Given the description of an element on the screen output the (x, y) to click on. 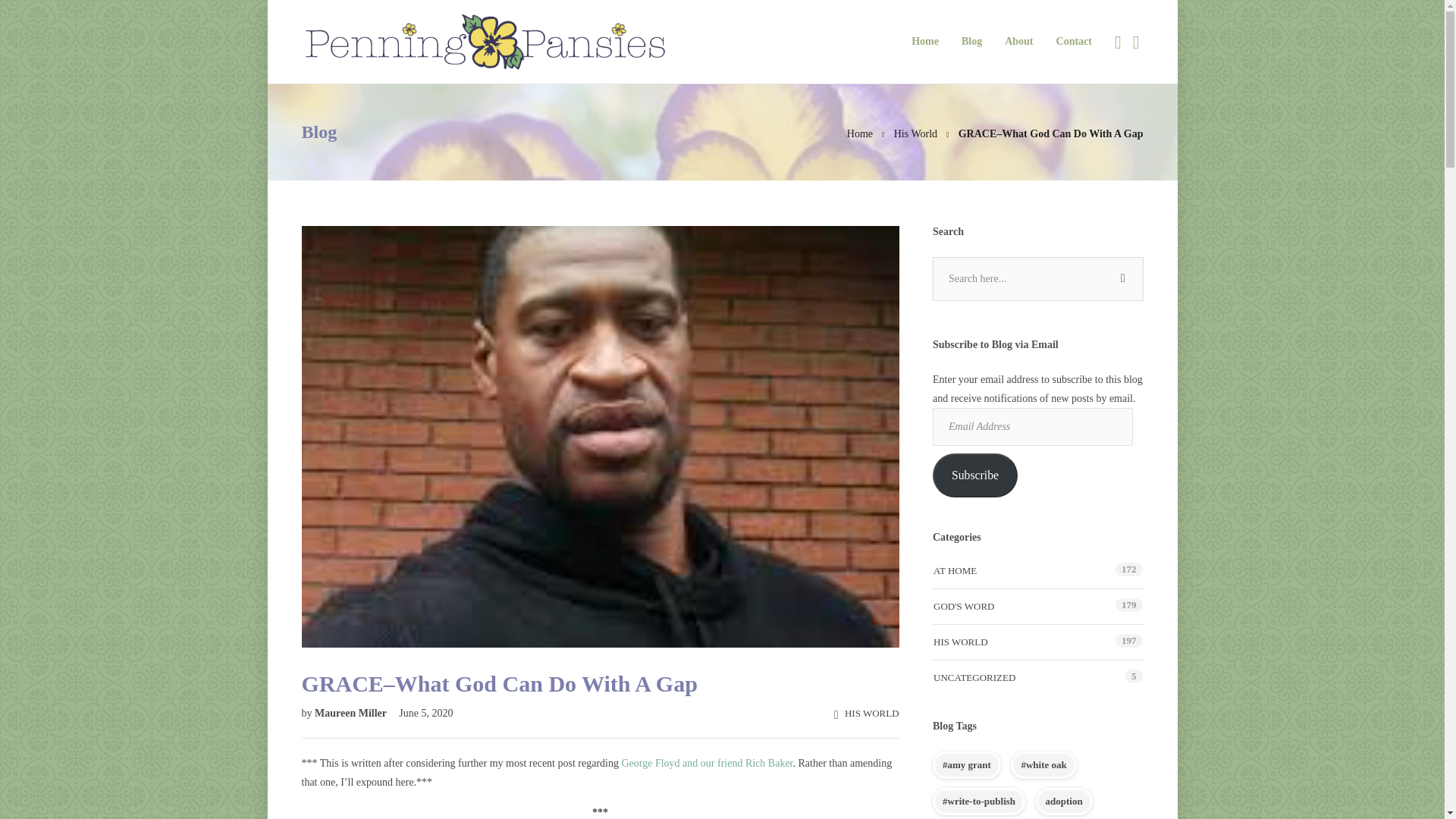
June 5, 2020 (420, 713)
Home (859, 133)
Search text (1037, 279)
His World (915, 133)
HIS WORLD (871, 713)
George Floyd and our friend Rich Baker (706, 763)
Maureen Miller (351, 713)
Home (859, 133)
